Given the description of an element on the screen output the (x, y) to click on. 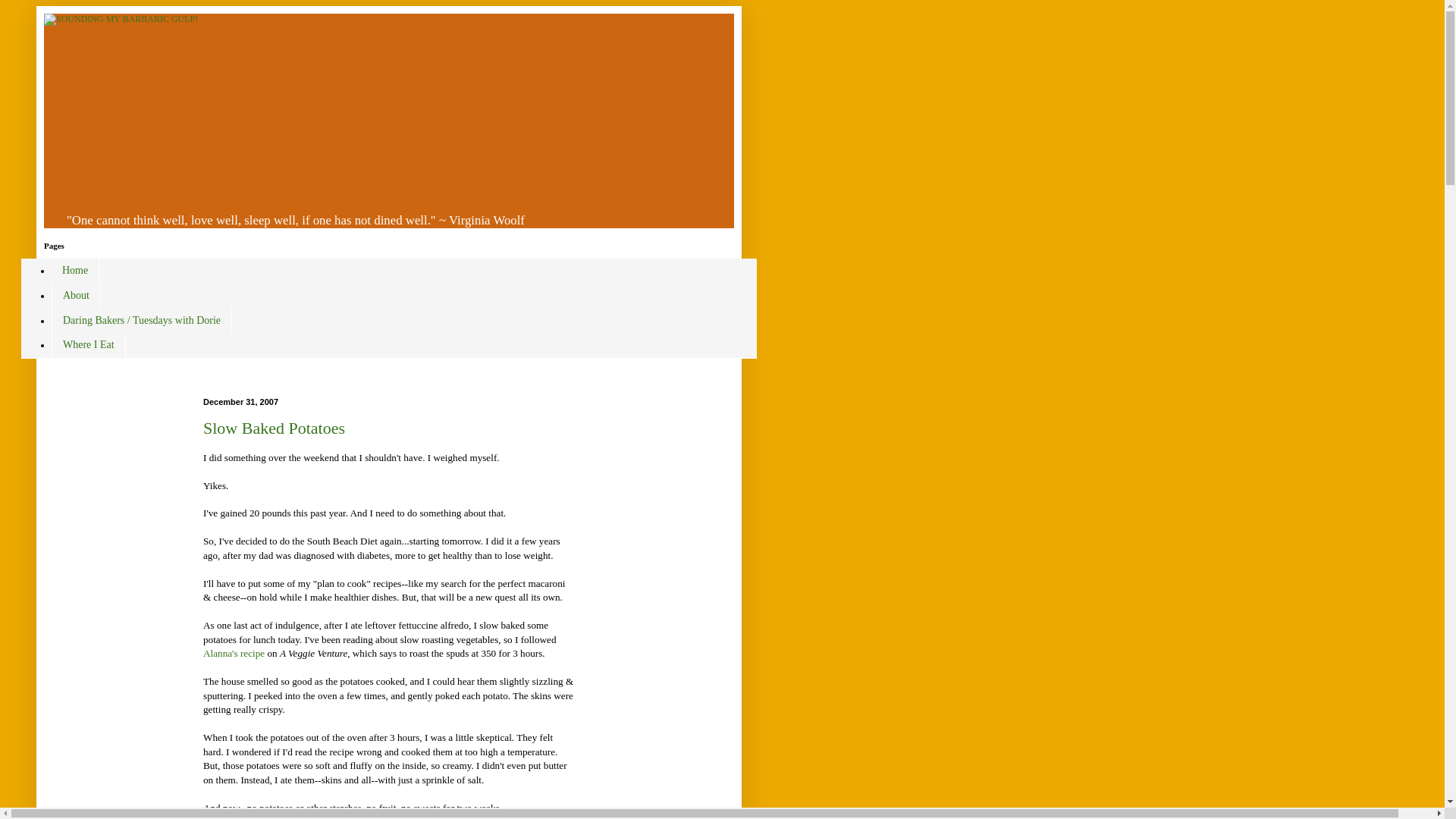
About (75, 294)
Home (74, 270)
Where I Eat (87, 344)
Slow Baked Potatoes (274, 427)
Alanna's recipe (233, 653)
